Given the description of an element on the screen output the (x, y) to click on. 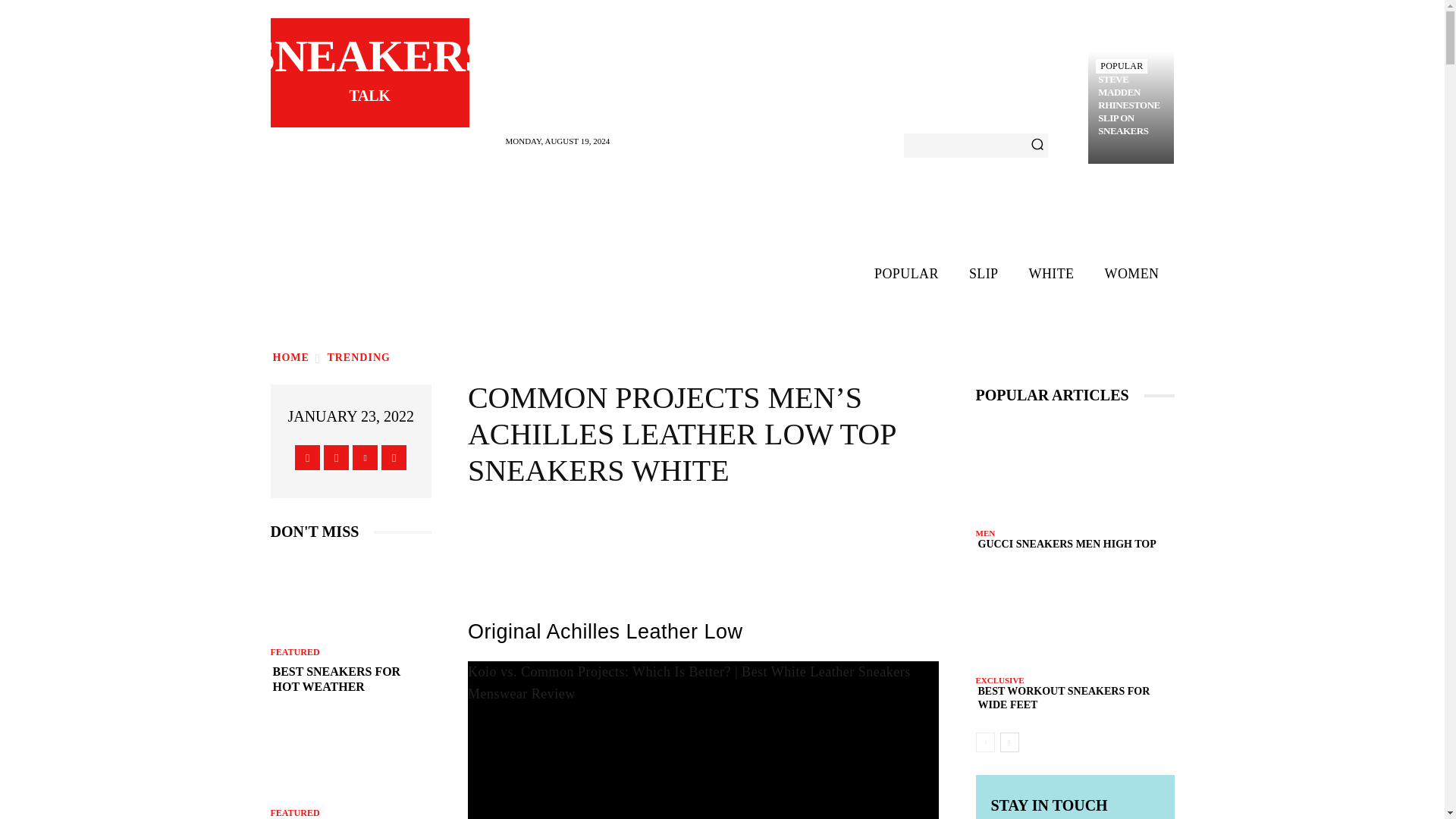
FEATURED (293, 651)
Facebook (307, 457)
Best Sneakers For Hot Weather (349, 680)
STEVE MADDEN RHINESTONE SLIP ON SNEAKERS (1131, 105)
Best Sneakers For Hot Weather (349, 596)
Twitter (364, 457)
Youtube (393, 457)
WHITE (1051, 273)
WOMEN (1131, 273)
Instagram (336, 457)
